Given the description of an element on the screen output the (x, y) to click on. 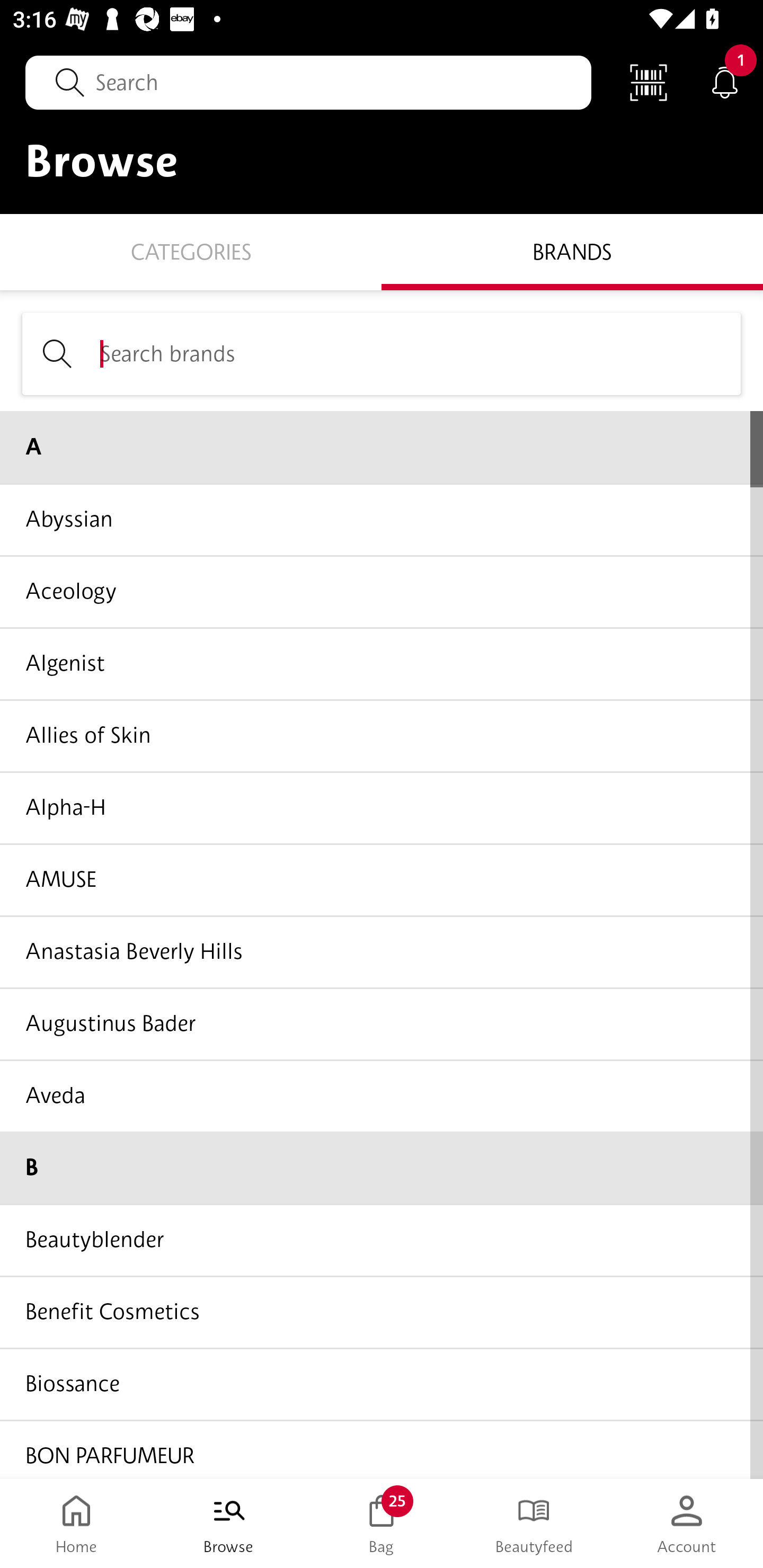
Scan Code (648, 81)
Notifications (724, 81)
Search (308, 81)
Categories CATEGORIES (190, 251)
Search brands (381, 353)
A (381, 446)
Abyssian (381, 518)
Aceology (381, 591)
Algenist (381, 663)
Allies of Skin (381, 735)
Alpha-H (381, 807)
AMUSE (381, 879)
Anastasia Beverly Hills (381, 951)
Augustinus Bader (381, 1023)
Aveda (381, 1095)
B (381, 1168)
Beautyblender (381, 1240)
Benefit Cosmetics (381, 1311)
Biossance (381, 1382)
BON PARFUMEUR (381, 1448)
Home (76, 1523)
Bag 25 Bag (381, 1523)
Beautyfeed (533, 1523)
Account (686, 1523)
